Given the description of an element on the screen output the (x, y) to click on. 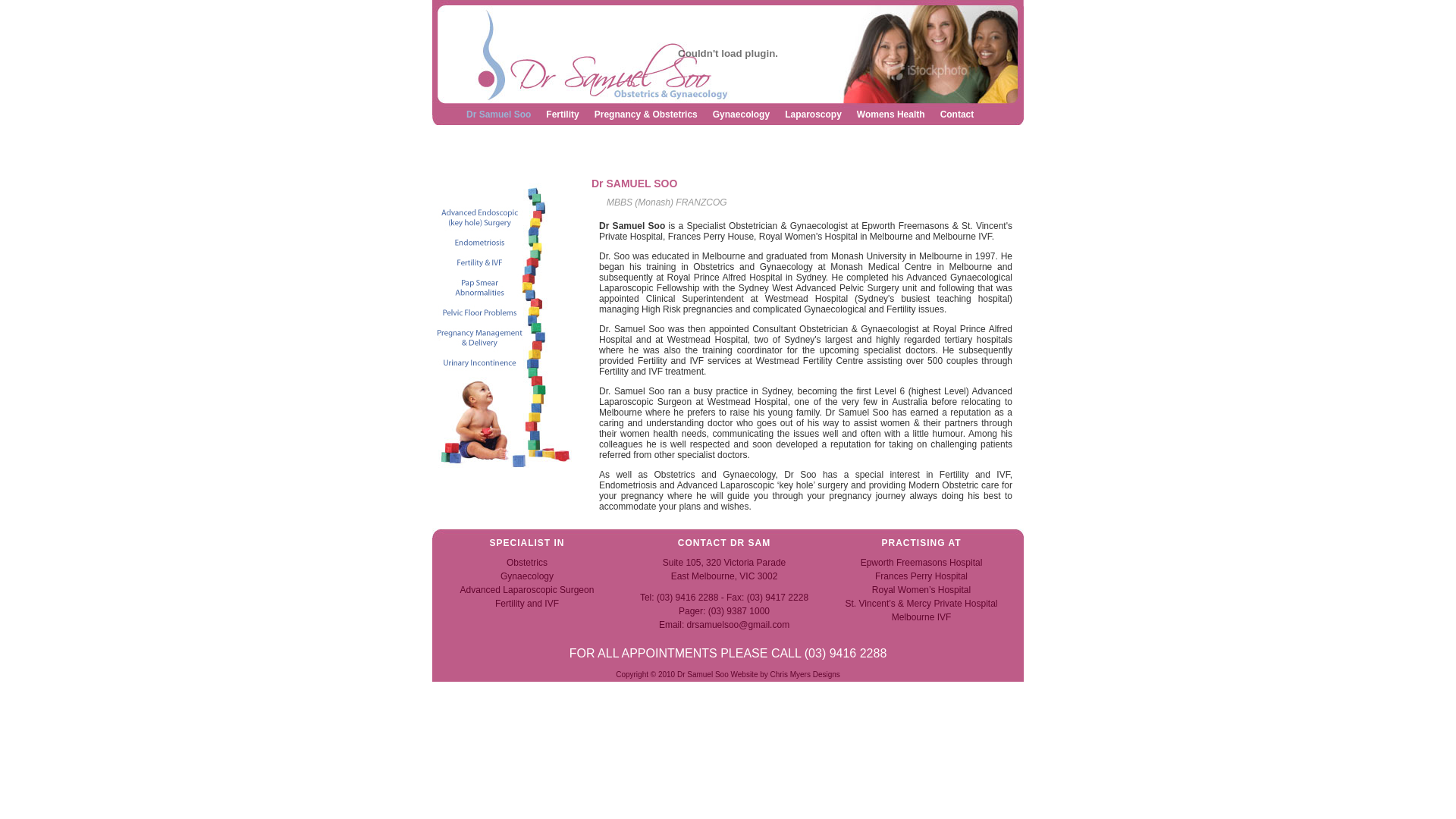
Womens Health Element type: text (890, 114)
Website by Chris Myers Designs Element type: text (785, 674)
Melbourne IVF Element type: text (921, 616)
Frances Perry Hospital Element type: text (921, 576)
Gynaecology Element type: text (740, 114)
drsamuelsoo@gmail.com Element type: text (738, 624)
Contact Element type: text (957, 114)
Fertility Element type: text (562, 114)
Laparoscopy Element type: text (812, 114)
Pregnancy & Obstetrics Element type: text (645, 114)
Epworth Freemasons Hospital Element type: text (921, 562)
